Given the description of an element on the screen output the (x, y) to click on. 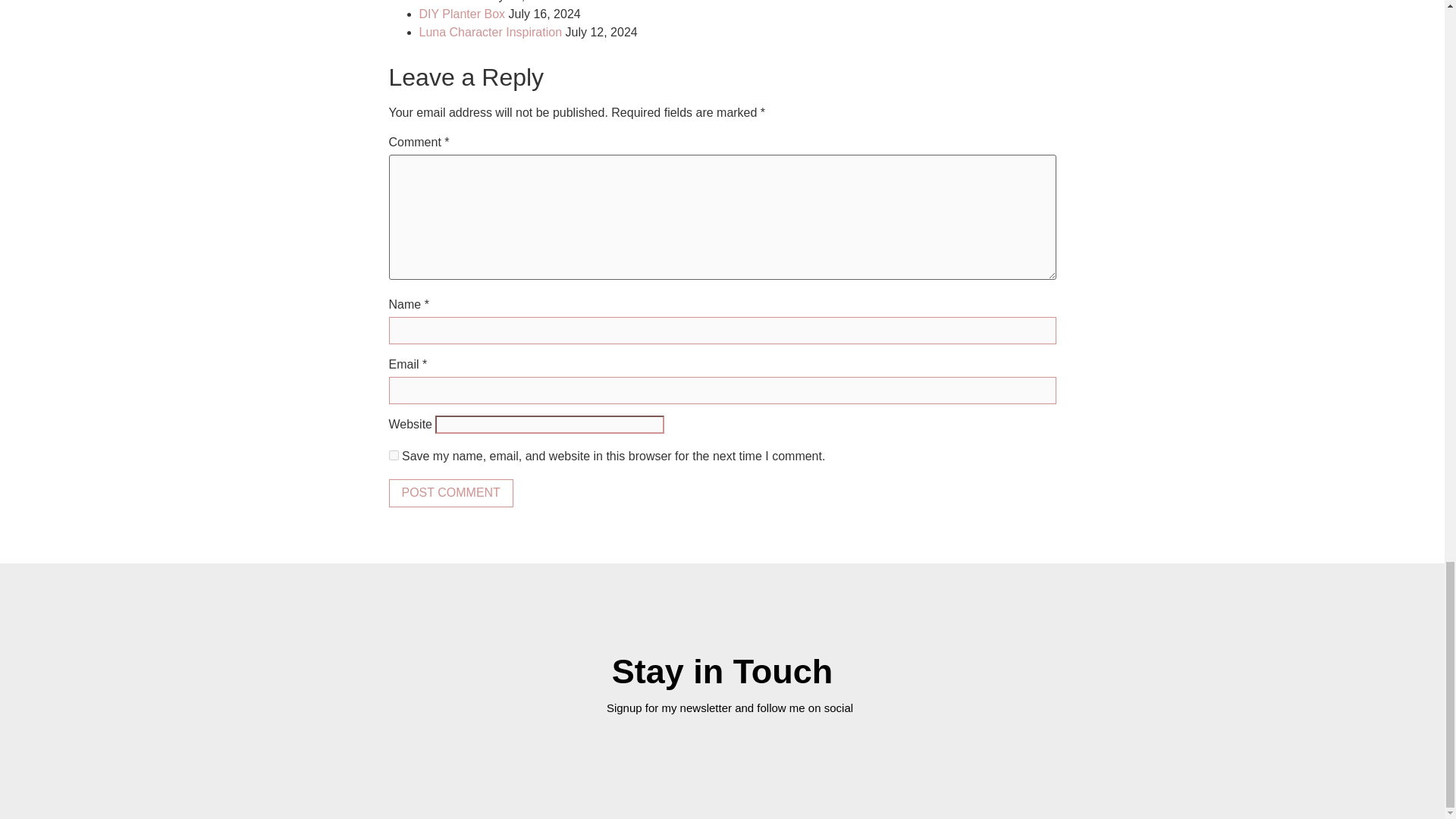
yes (392, 455)
Post Comment (450, 492)
Post Comment (450, 492)
DIY Planter Box (462, 13)
Luna Character Inspiration (490, 31)
Corn Salad (449, 1)
